Given the description of an element on the screen output the (x, y) to click on. 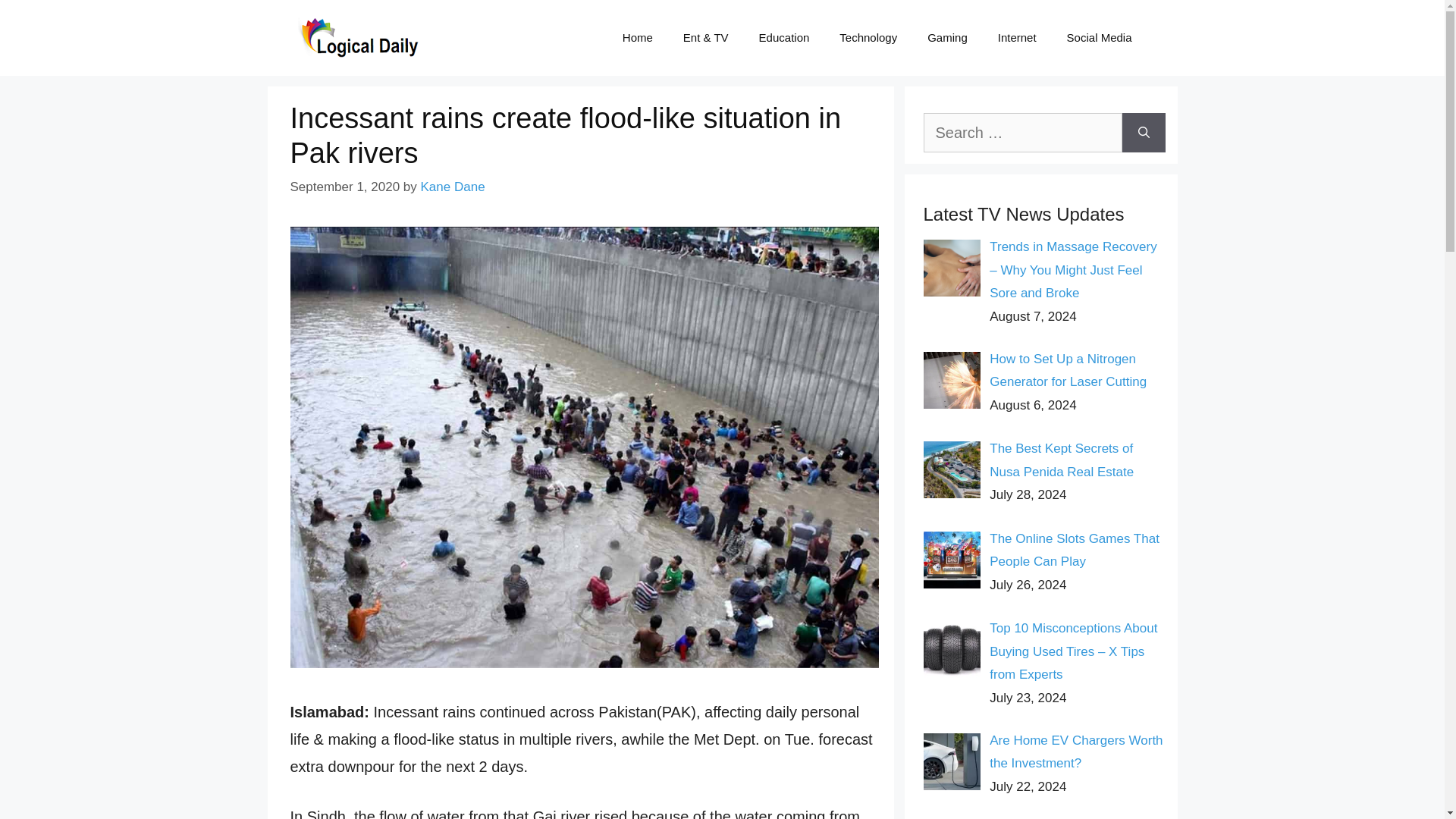
Education (784, 37)
Are Home EV Chargers Worth the Investment? (1075, 752)
The Best Kept Secrets of Nusa Penida Real Estate (1062, 460)
Social Media (1099, 37)
How to Set Up a Nitrogen Generator for Laser Cutting (1068, 370)
Gaming (947, 37)
Home (637, 37)
Internet (1016, 37)
Kane Dane (452, 186)
Search for: (1022, 132)
